Given the description of an element on the screen output the (x, y) to click on. 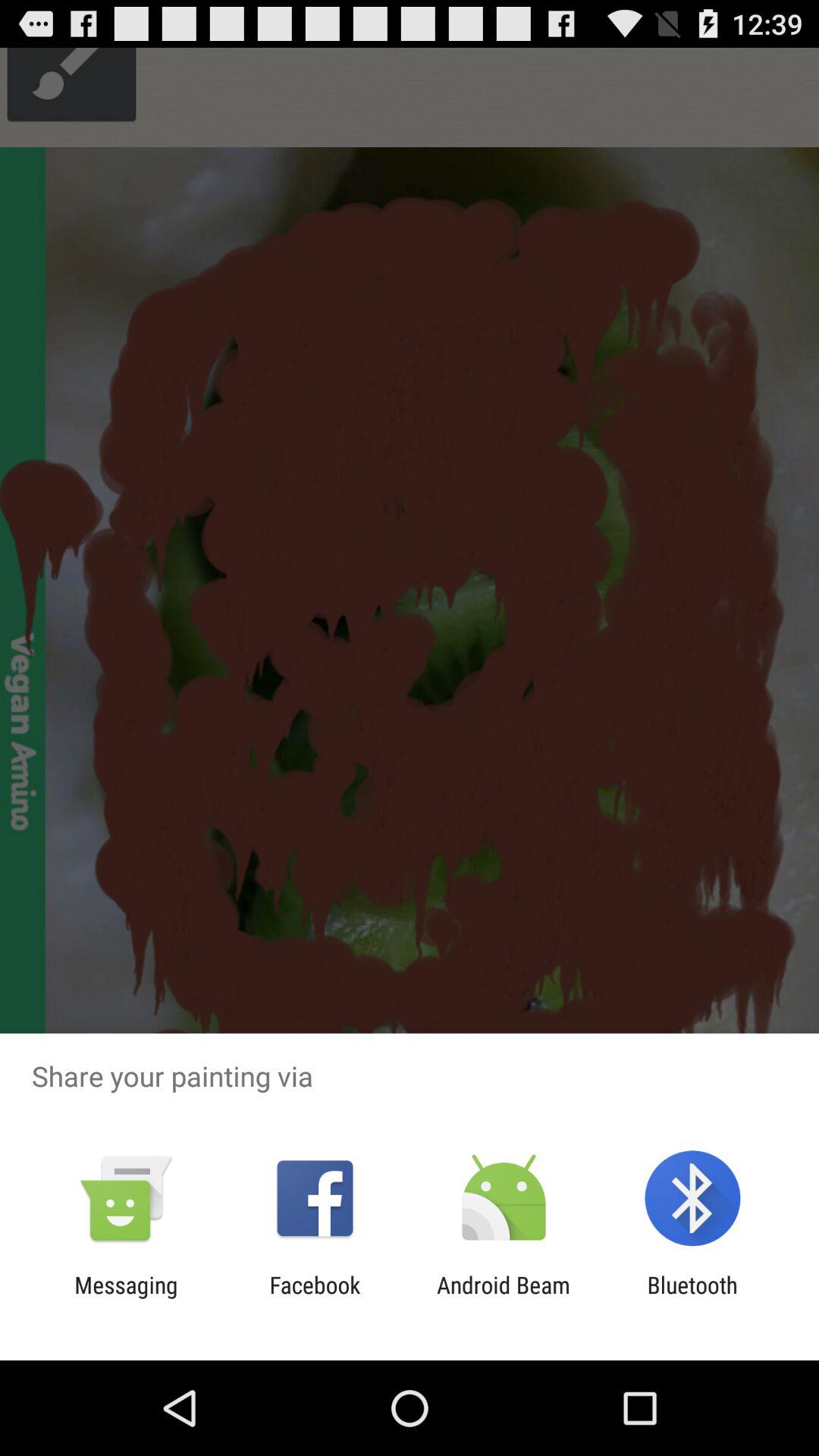
open app to the left of bluetooth icon (503, 1298)
